Given the description of an element on the screen output the (x, y) to click on. 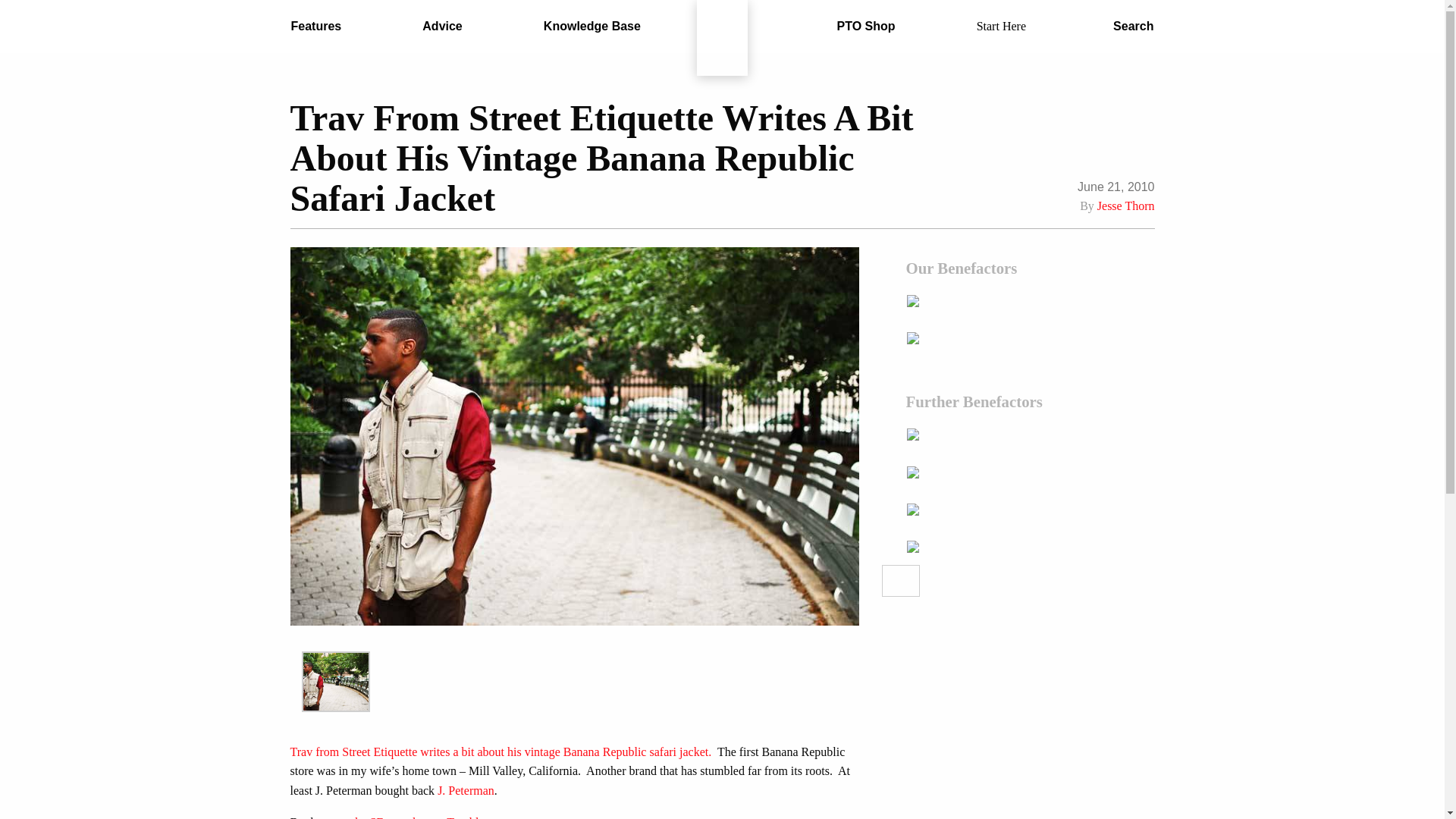
Features (316, 26)
Posts by Jesse Thorn (1125, 205)
